Given the description of an element on the screen output the (x, y) to click on. 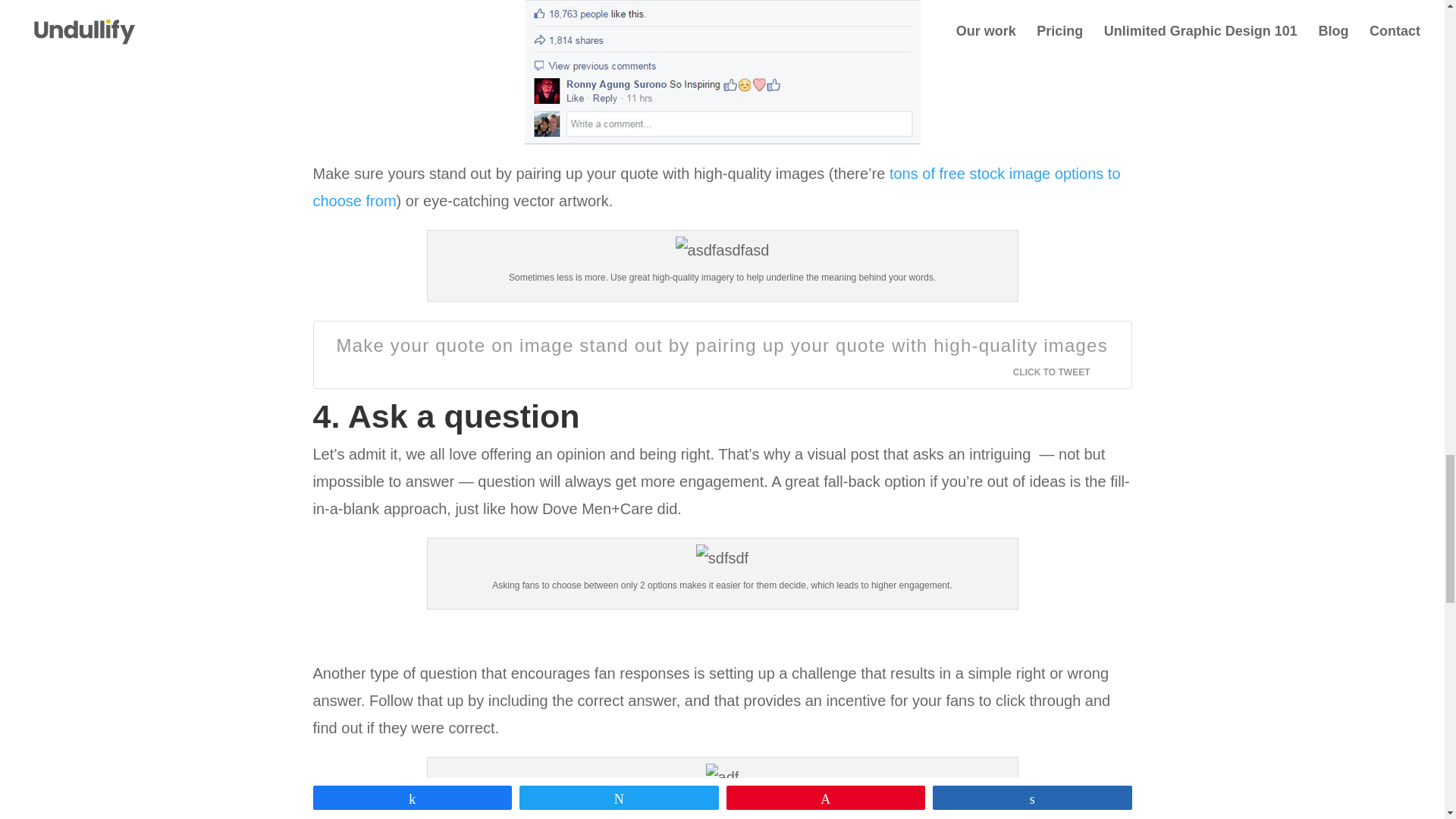
CLICK TO TWEET (1060, 371)
tons of free stock image options to choose from (716, 187)
